Given the description of an element on the screen output the (x, y) to click on. 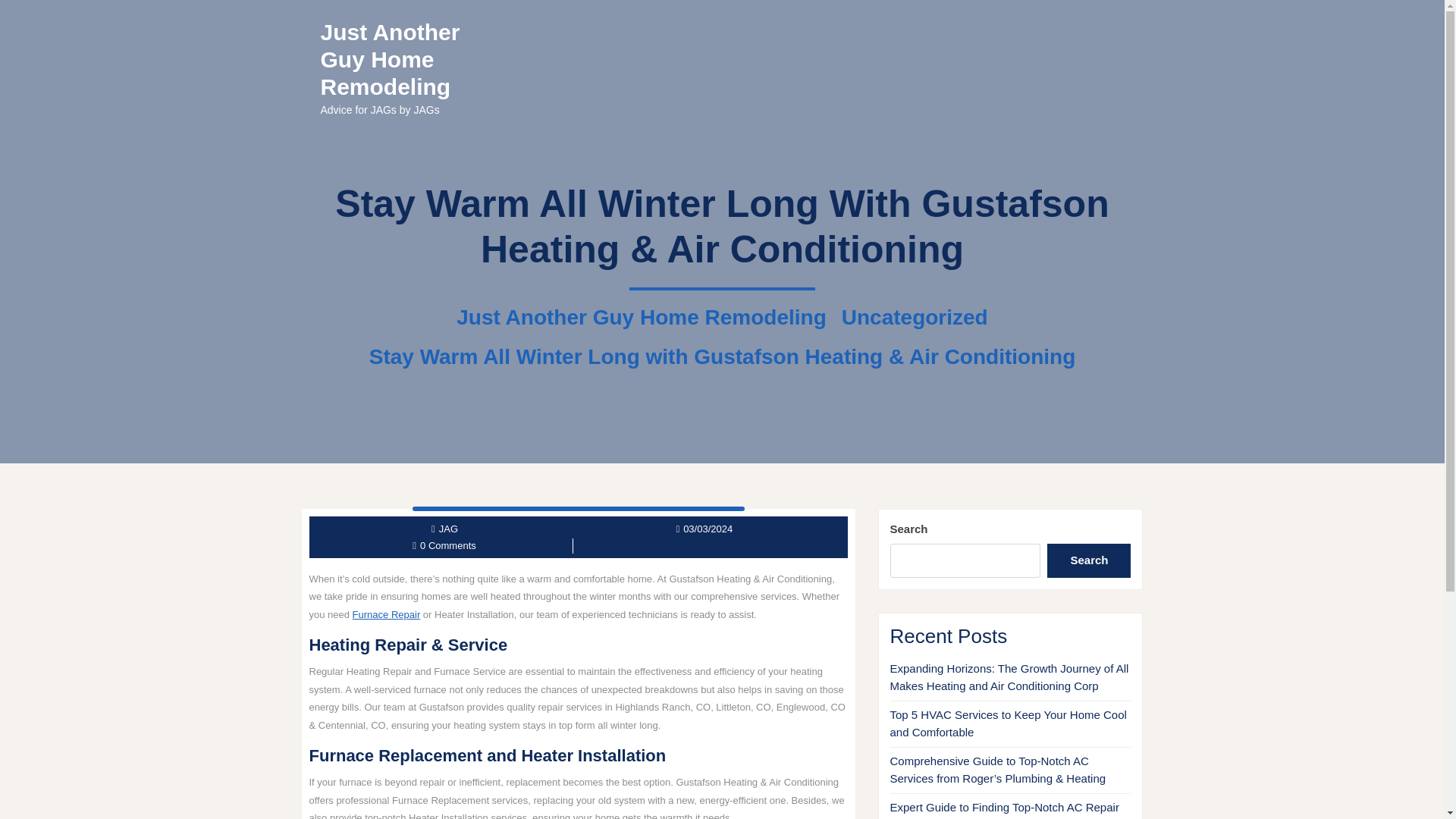
Uncategorized (914, 317)
Furnace Repair (386, 614)
Just Another Guy Home Remodeling (640, 317)
Top 5 HVAC Services to Keep Your Home Cool and Comfortable (1007, 723)
Just Another Guy Home Remodeling (390, 59)
Search (1088, 560)
